Given the description of an element on the screen output the (x, y) to click on. 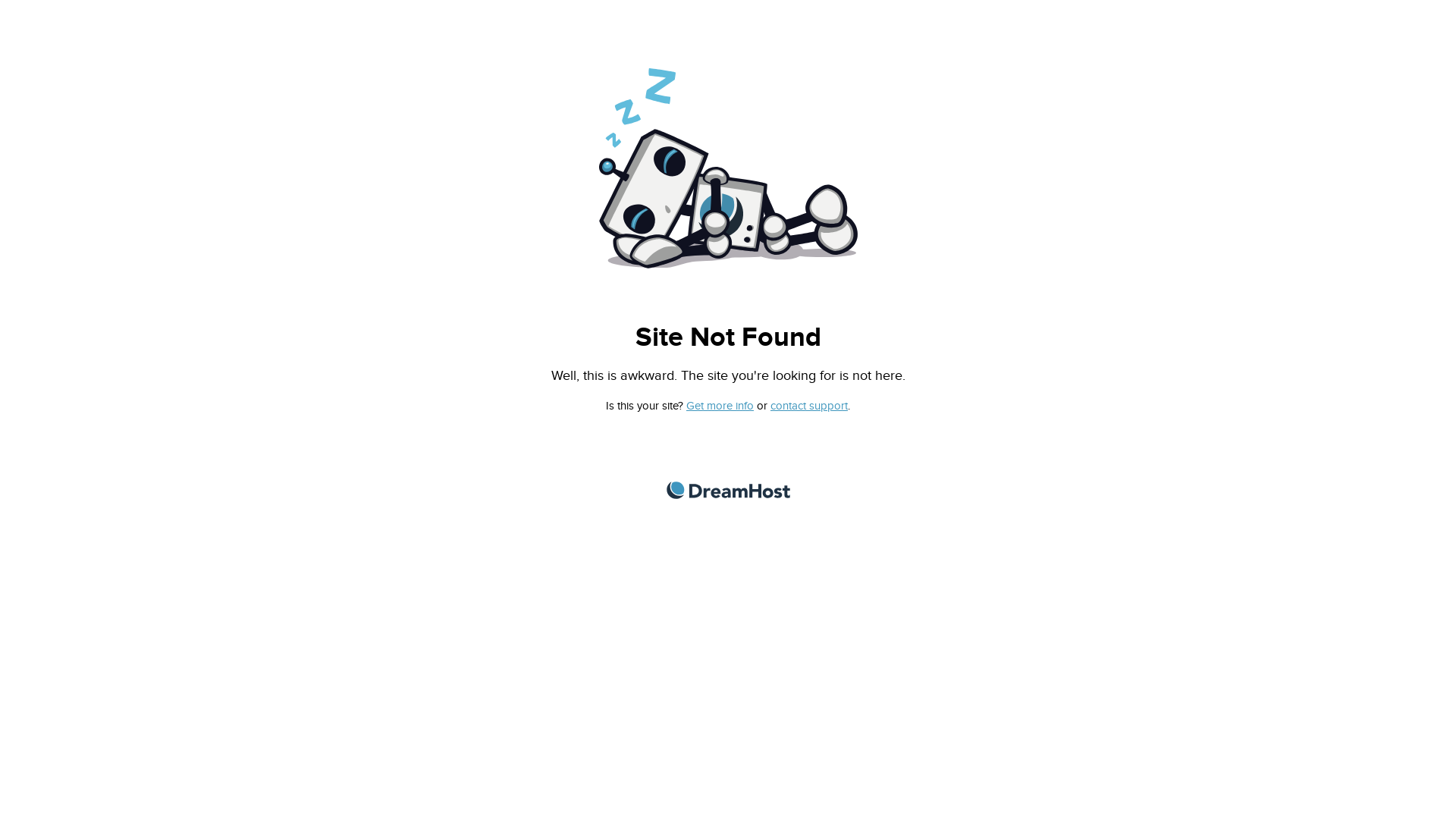
DreamHost Element type: text (727, 489)
Get more info Element type: text (719, 405)
contact support Element type: text (808, 405)
